Given the description of an element on the screen output the (x, y) to click on. 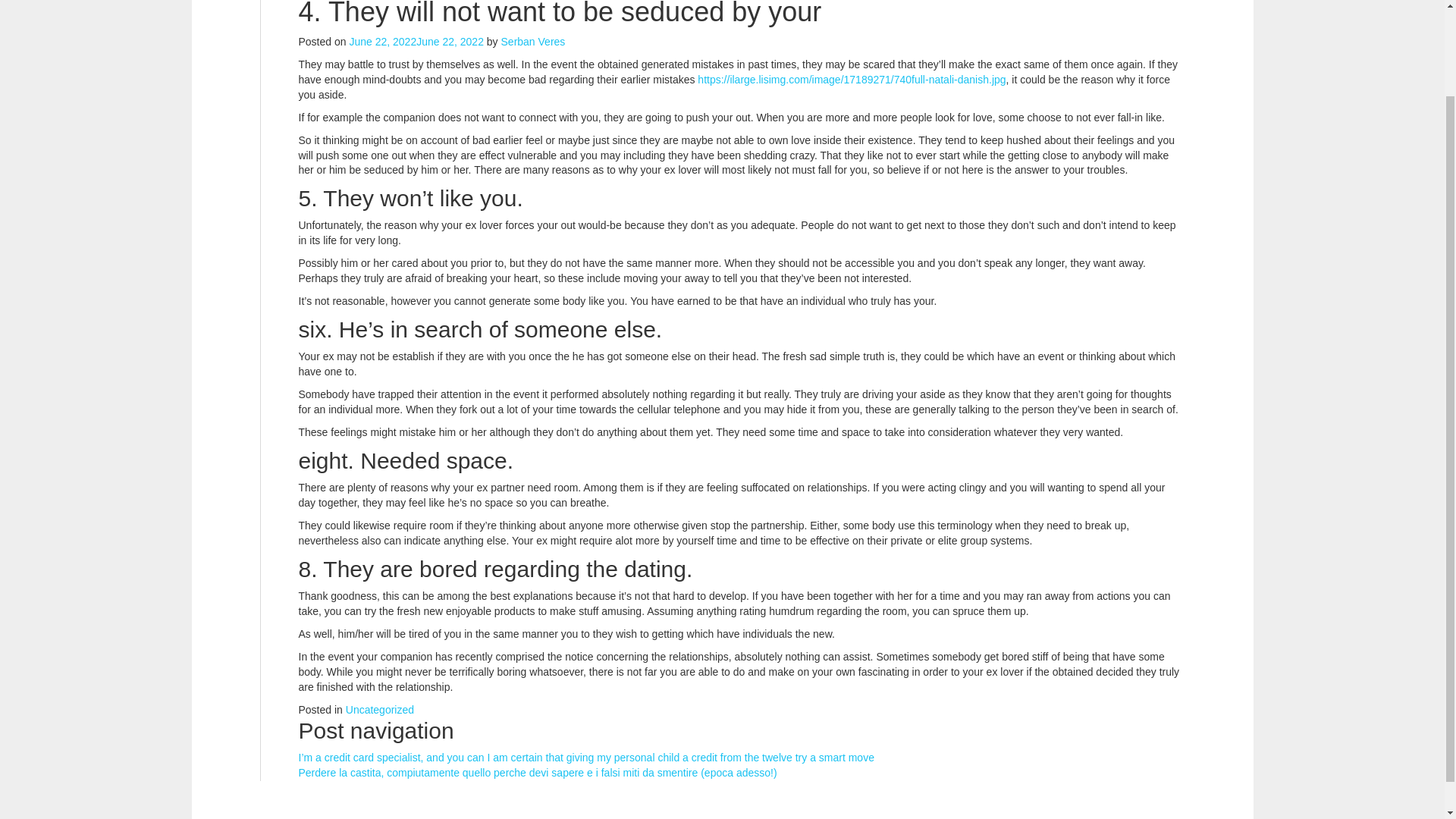
Serban Veres (533, 41)
Uncategorized (379, 709)
June 22, 2022June 22, 2022 (416, 41)
